Given the description of an element on the screen output the (x, y) to click on. 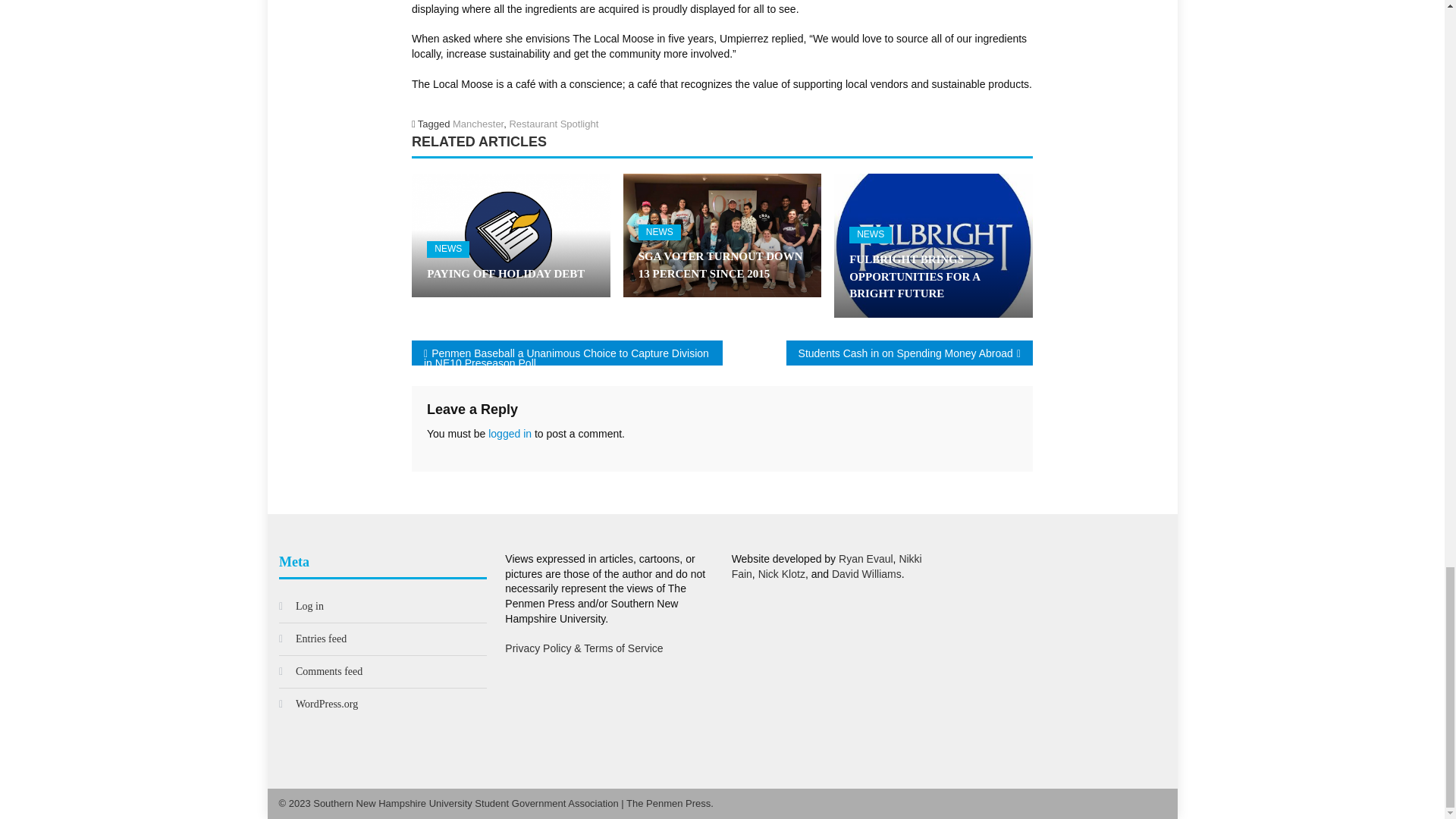
SGA VOTER TURNOUT DOWN 13 PERCENT SINCE 2015 (722, 264)
Fulbright Brings Opportunities for a Bright Future (933, 245)
NEWS (660, 232)
Paying Off Holiday Debt (511, 235)
Restaurant Spotlight (553, 123)
Manchester (477, 123)
SGA Voter Turnout Down 13 Percent Since 2015 (722, 235)
PAYING OFF HOLIDAY DEBT (510, 273)
NEWS (447, 248)
NEWS (869, 234)
